Given the description of an element on the screen output the (x, y) to click on. 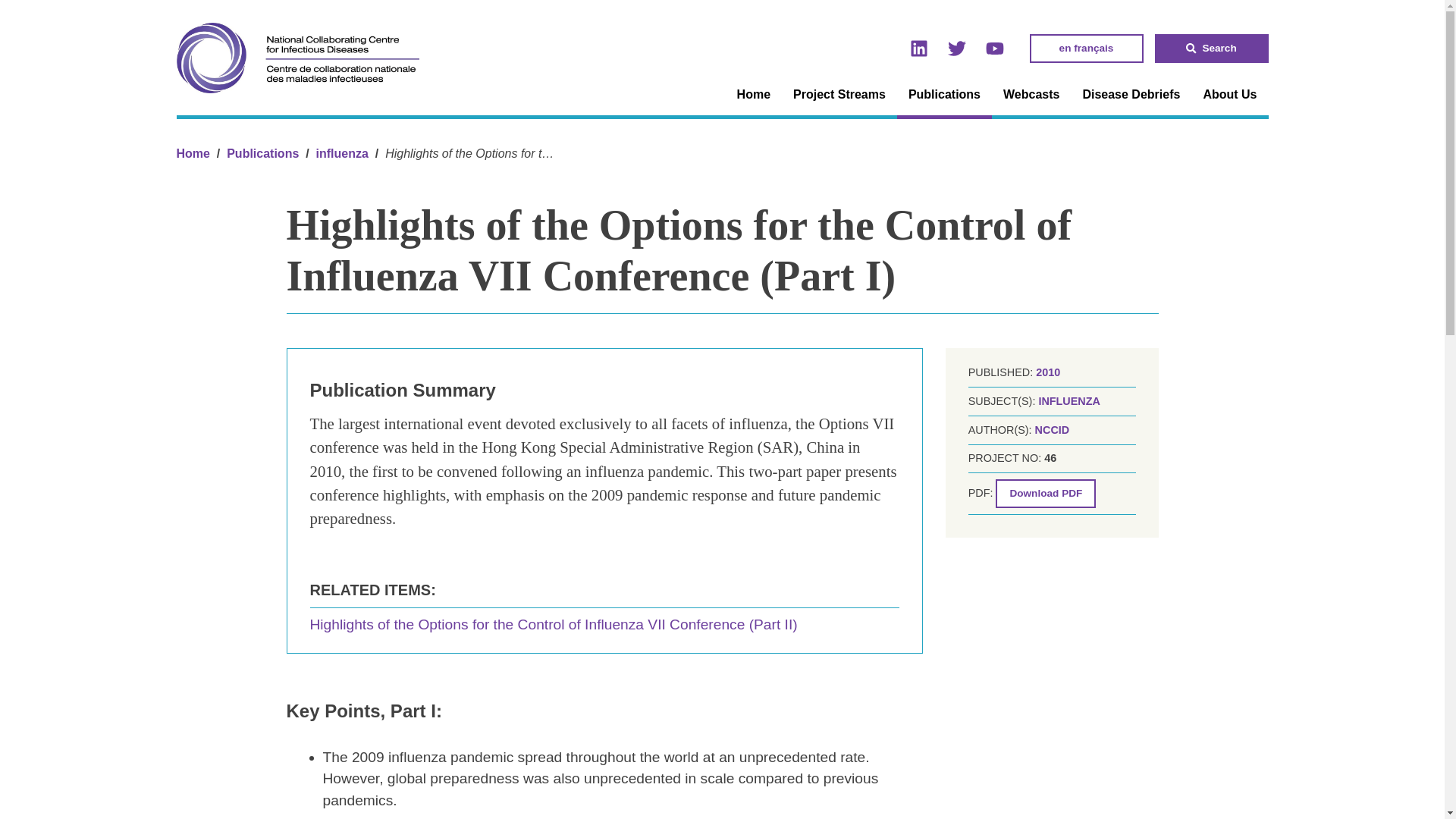
Go to Publications. (262, 153)
National Collaborating Centre for Infectious Diseases (192, 153)
INFLUENZA (1069, 400)
Go to the influenza Subject Area archives. (341, 153)
Download PDF (1045, 493)
Home (192, 153)
Publications (262, 153)
Webcasts (1030, 94)
influenza (341, 153)
Disease Debriefs (1130, 94)
About Us (1229, 94)
2010 (1047, 372)
Publications (943, 96)
NCCID (1052, 429)
Search (1211, 48)
